Given the description of an element on the screen output the (x, y) to click on. 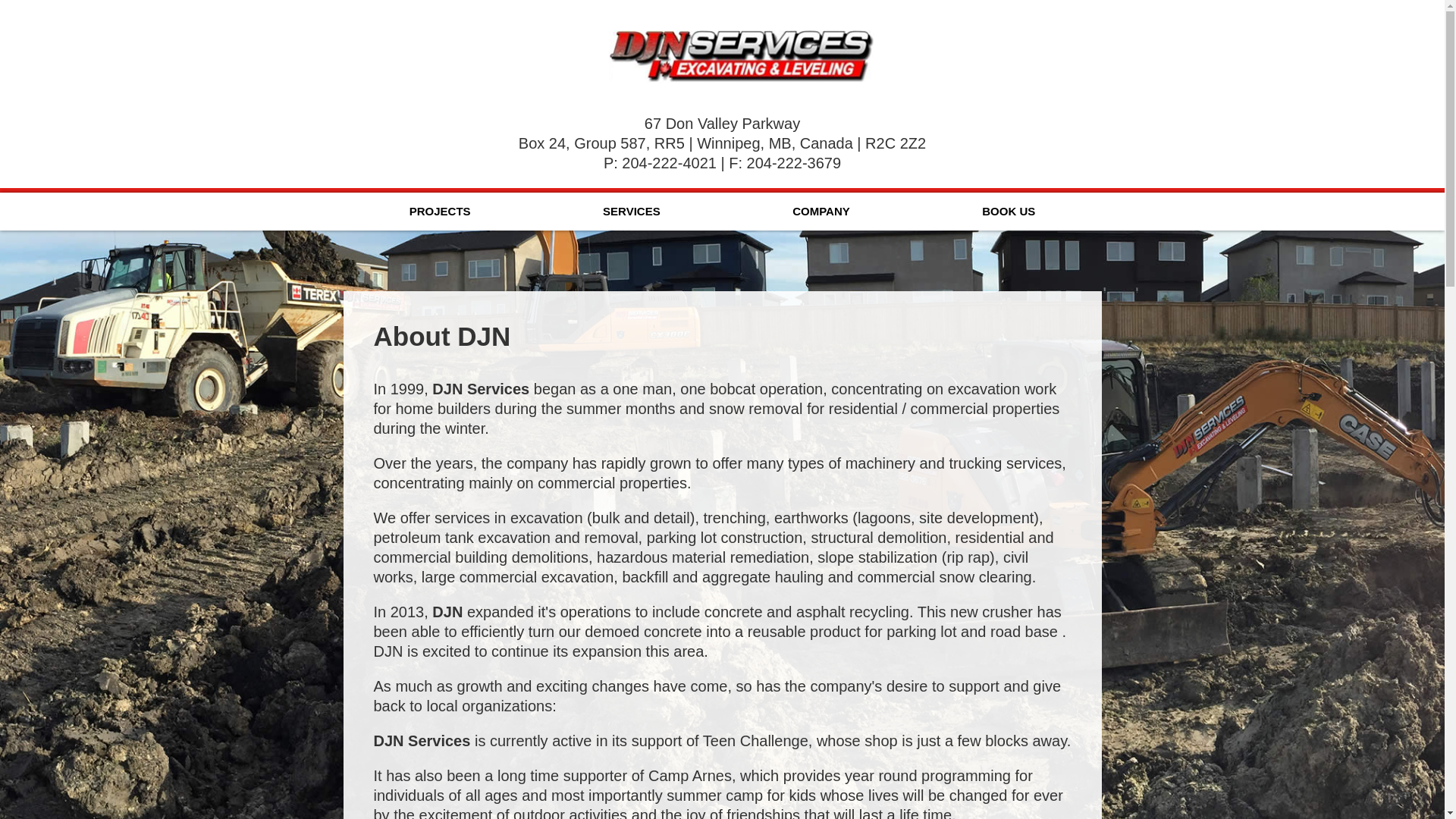
BOOK US (1008, 211)
DJN Services (740, 56)
COMPANY (820, 211)
SERVICES (631, 211)
PROJECTS (438, 211)
